Given the description of an element on the screen output the (x, y) to click on. 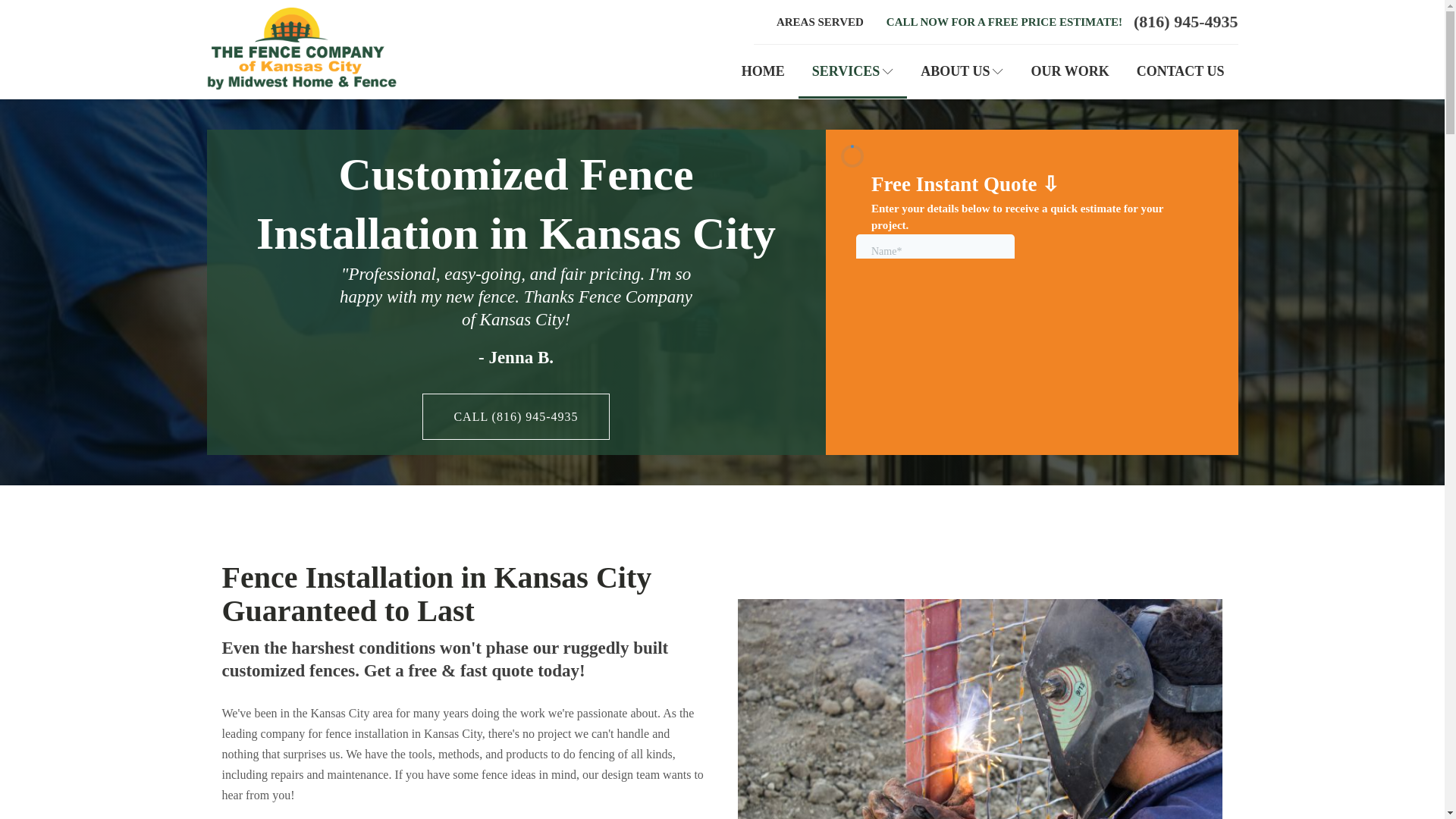
AREAS SERVED (820, 22)
ABOUT US (961, 71)
OUR WORK (1069, 71)
CONTACT US (1180, 71)
SERVICES (852, 71)
HOME (762, 71)
